Given the description of an element on the screen output the (x, y) to click on. 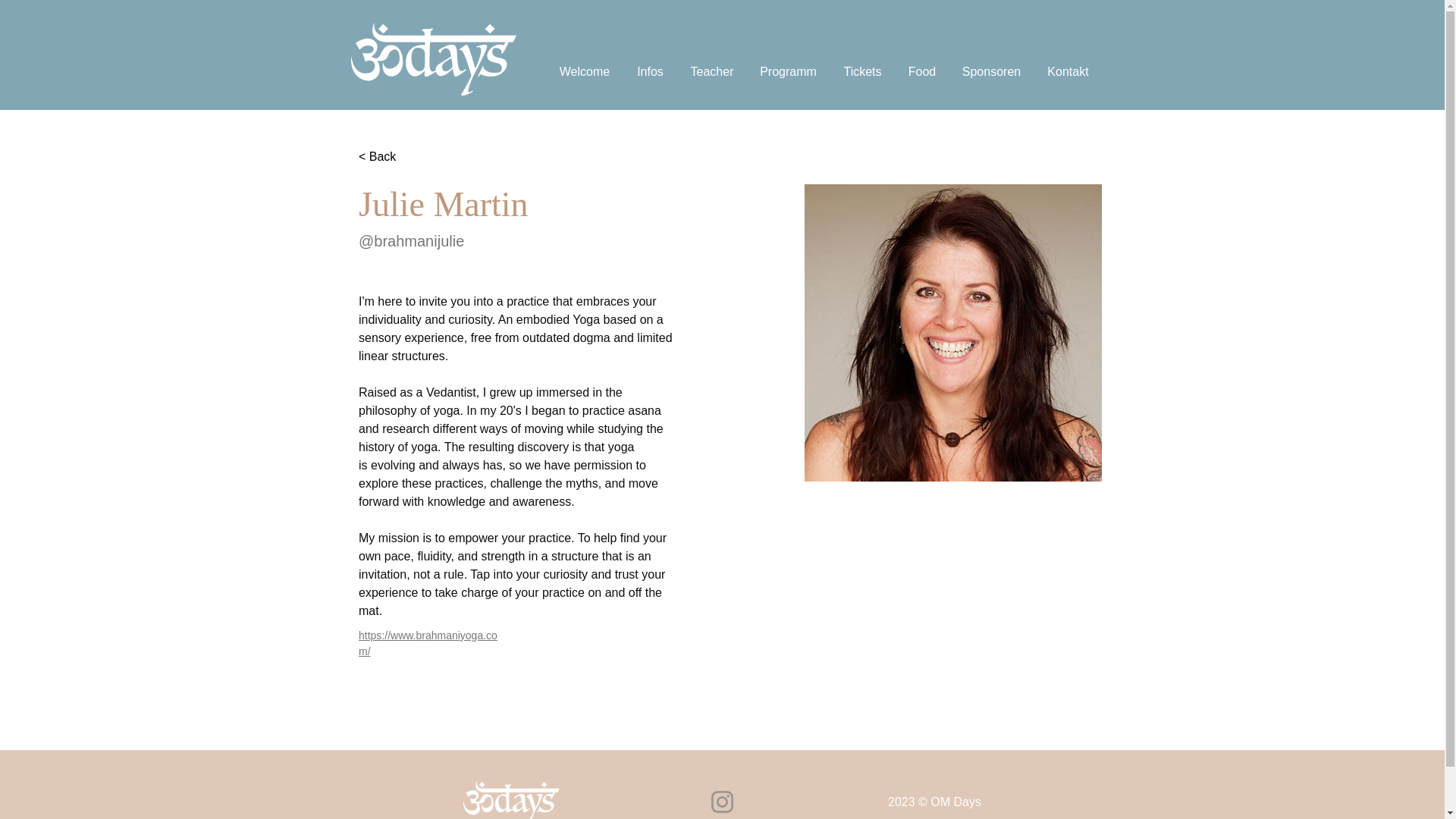
Kontakt (1067, 71)
Teacher (712, 71)
Tickets (862, 71)
Sponsoren (991, 71)
Welcome (584, 71)
Bildschirmfoto 2024-02-25 um 19.23.31.png (953, 332)
Infos (650, 71)
Food (922, 71)
Programm (787, 71)
